Given the description of an element on the screen output the (x, y) to click on. 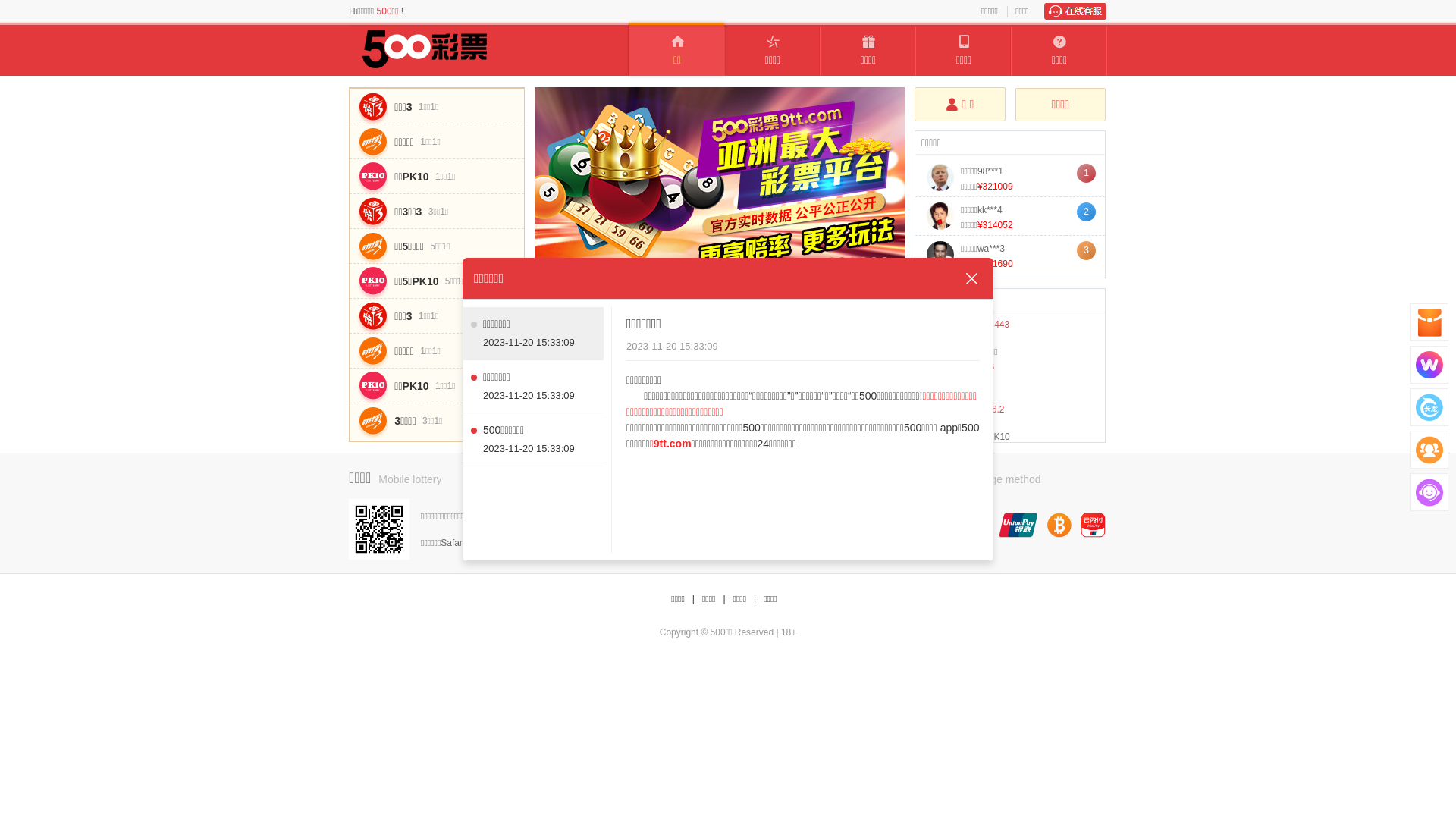
| Element type: text (723, 599)
| Element type: text (754, 599)
| Element type: text (693, 599)
